Given the description of an element on the screen output the (x, y) to click on. 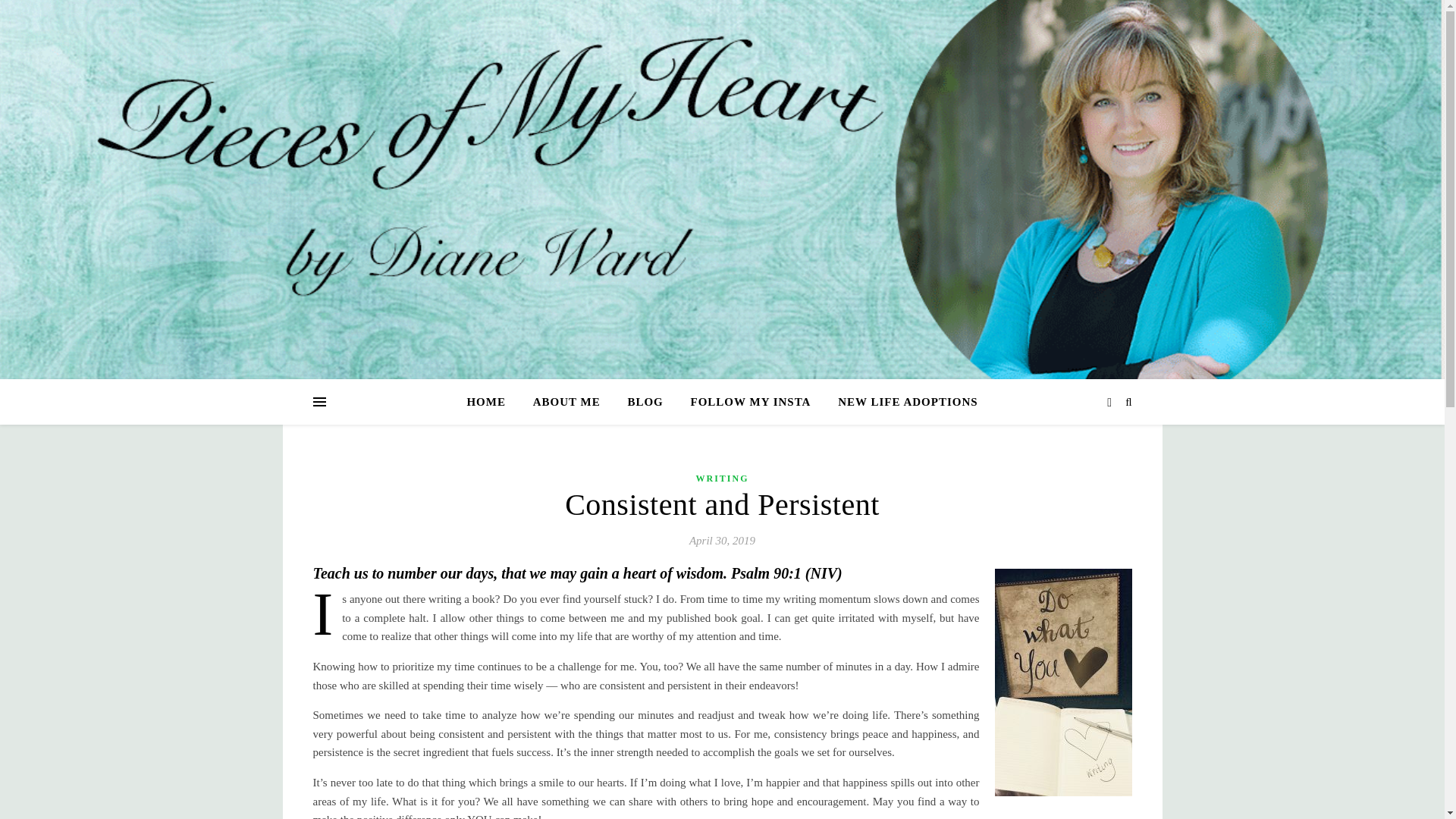
WRITING (721, 478)
ABOUT ME (566, 402)
BLOG (644, 402)
HOME (491, 402)
NEW LIFE ADOPTIONS (900, 402)
FOLLOW MY INSTA (750, 402)
